Given the description of an element on the screen output the (x, y) to click on. 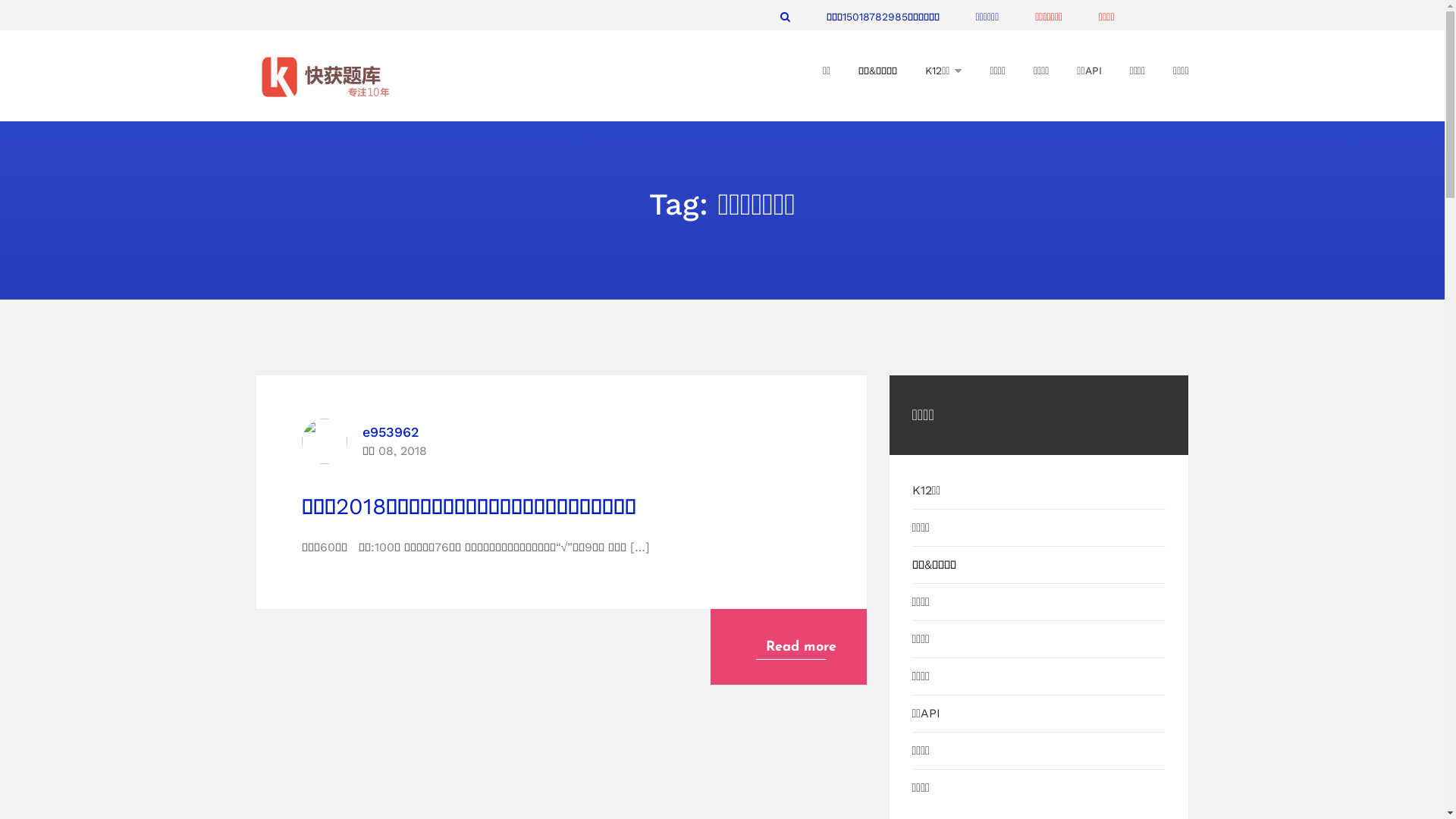
Read more Element type: text (787, 646)
Search Element type: hover (785, 16)
e953962 Element type: text (394, 431)
